Given the description of an element on the screen output the (x, y) to click on. 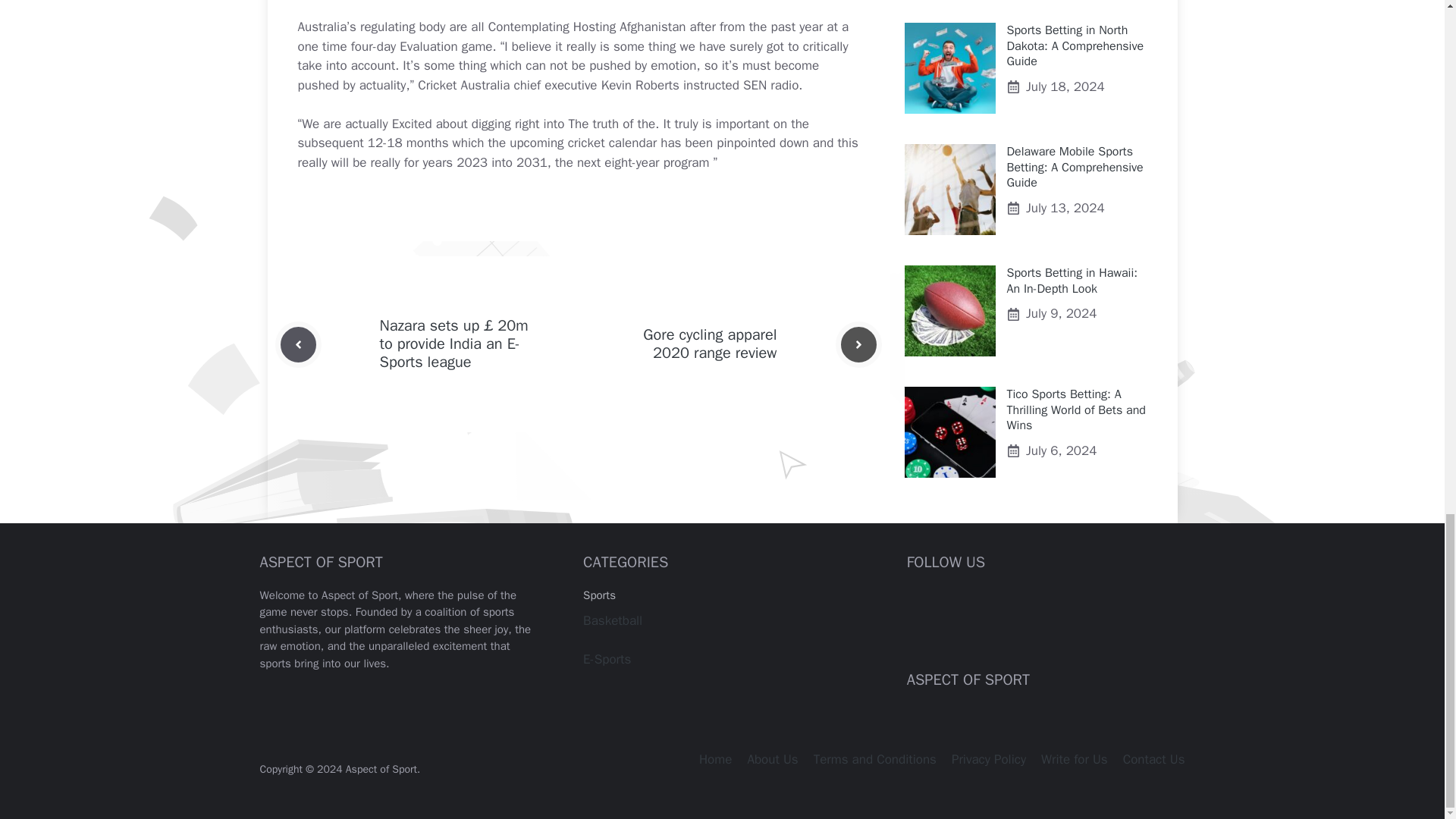
Home (715, 759)
Sports (599, 594)
Write for Us (1074, 759)
About Us (771, 759)
Gore cycling apparel 2020 range review (709, 343)
Privacy Policy (989, 759)
Contact Us (1153, 759)
Sports Betting in North Dakota: A Comprehensive Guide (1075, 45)
E-Sports (606, 659)
Basketball (612, 620)
Delaware Mobile Sports Betting: A Comprehensive Guide (1074, 167)
Terms and Conditions (874, 759)
Tico Sports Betting: A Thrilling World of Bets and Wins (1076, 410)
Scroll back to top (1406, 132)
Sports Betting in Hawaii: An In-Depth Look (1072, 280)
